Given the description of an element on the screen output the (x, y) to click on. 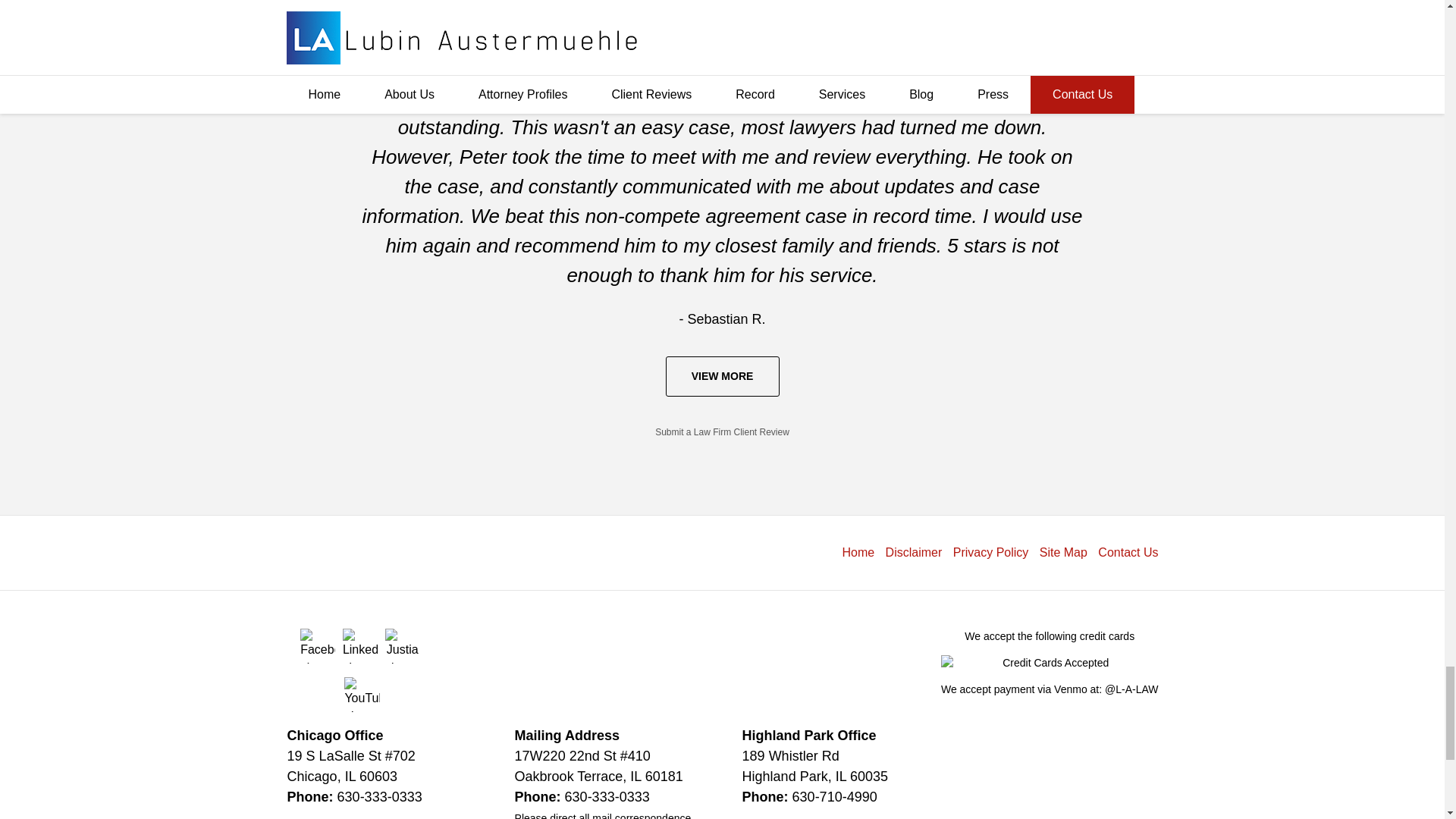
Facebook (316, 645)
Justia (402, 645)
LinkedIn (359, 645)
YouTube (360, 694)
